Given the description of an element on the screen output the (x, y) to click on. 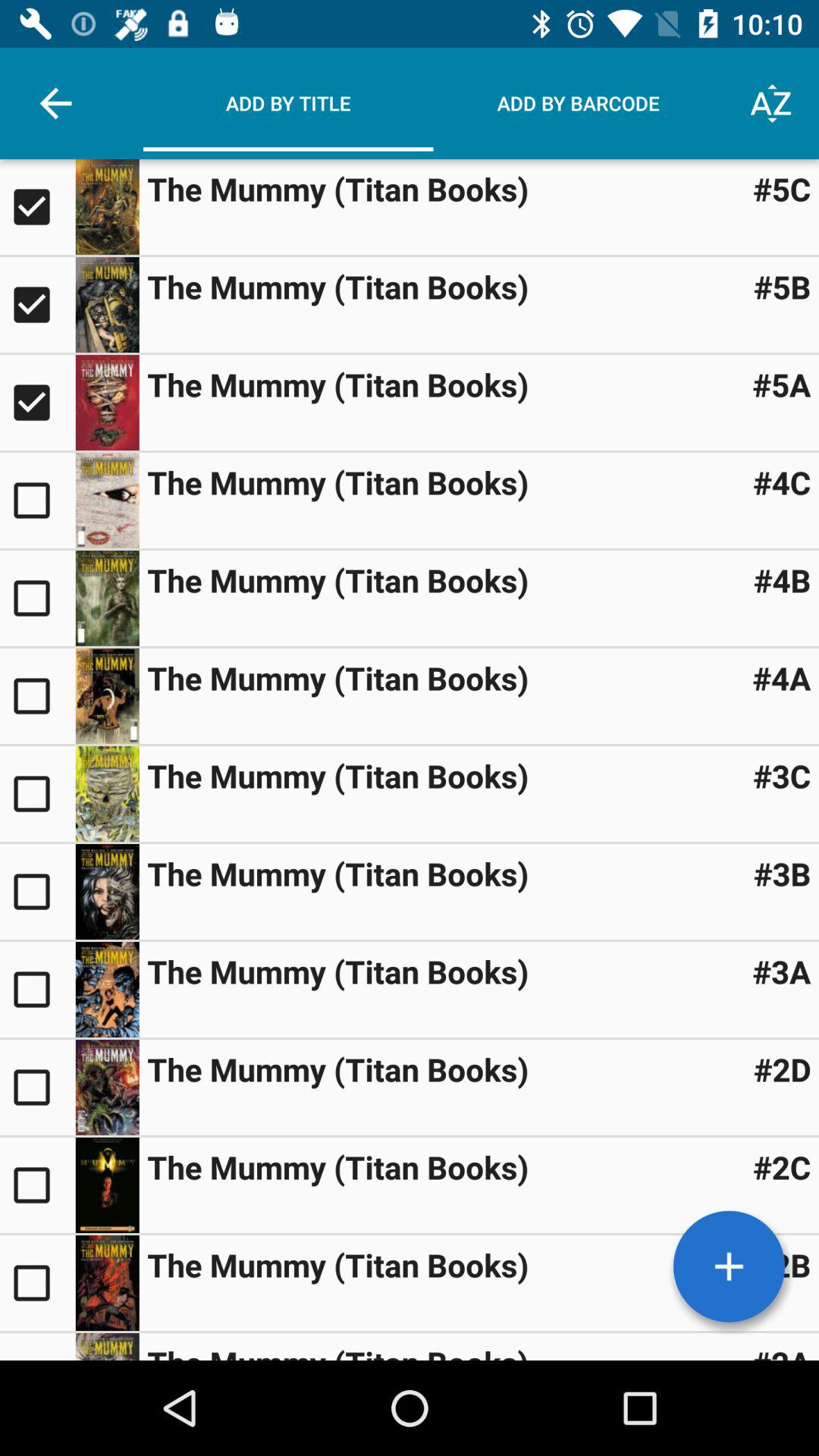
click the icon above the #4a item (782, 579)
